Given the description of an element on the screen output the (x, y) to click on. 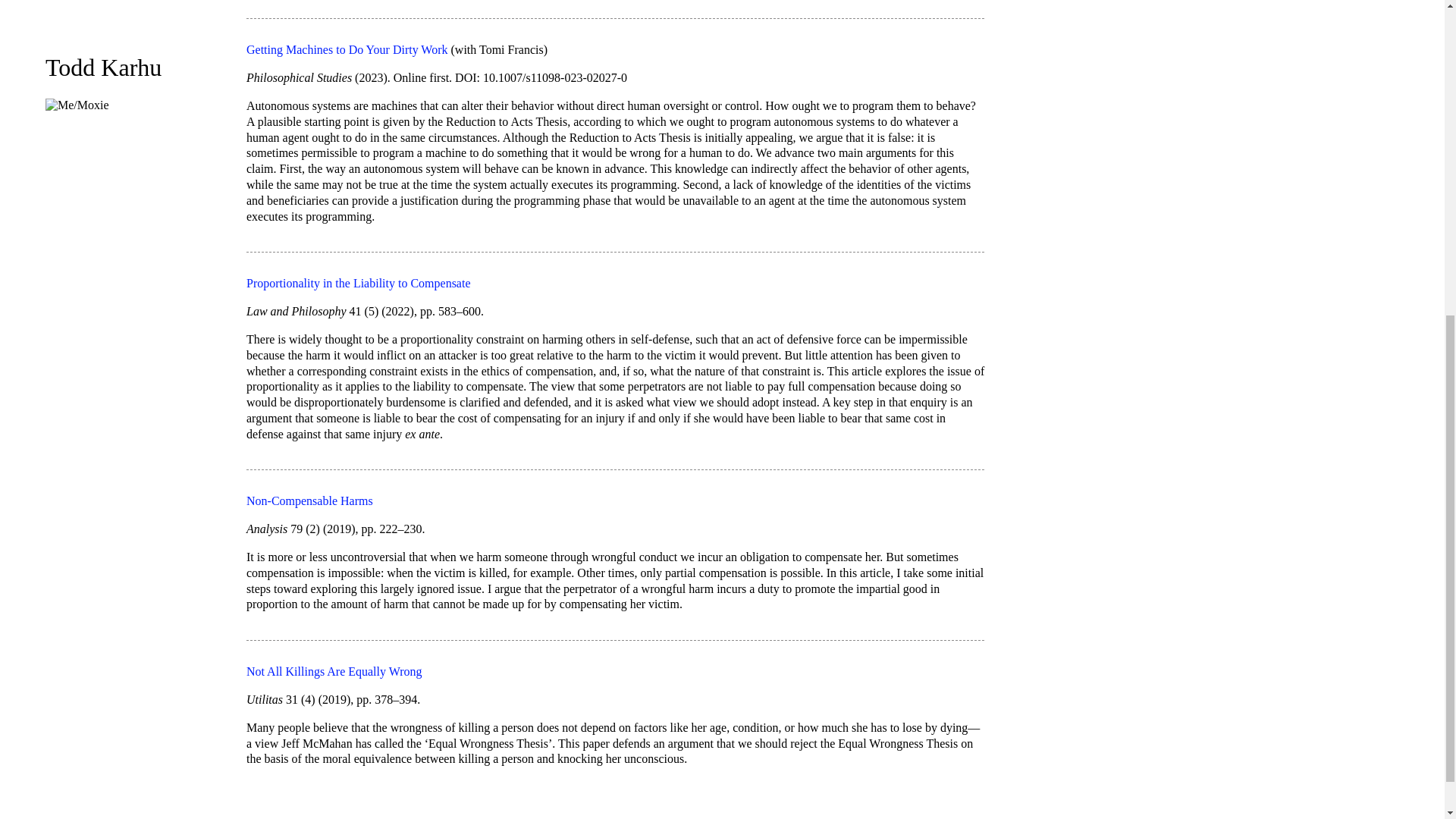
Non-Compensable Harms (309, 500)
Proportionality in the Liability to Compensate (358, 282)
Getting Machines to Do Your Dirty Work (347, 49)
Not All Killings Are Equally Wrong (334, 671)
